Given the description of an element on the screen output the (x, y) to click on. 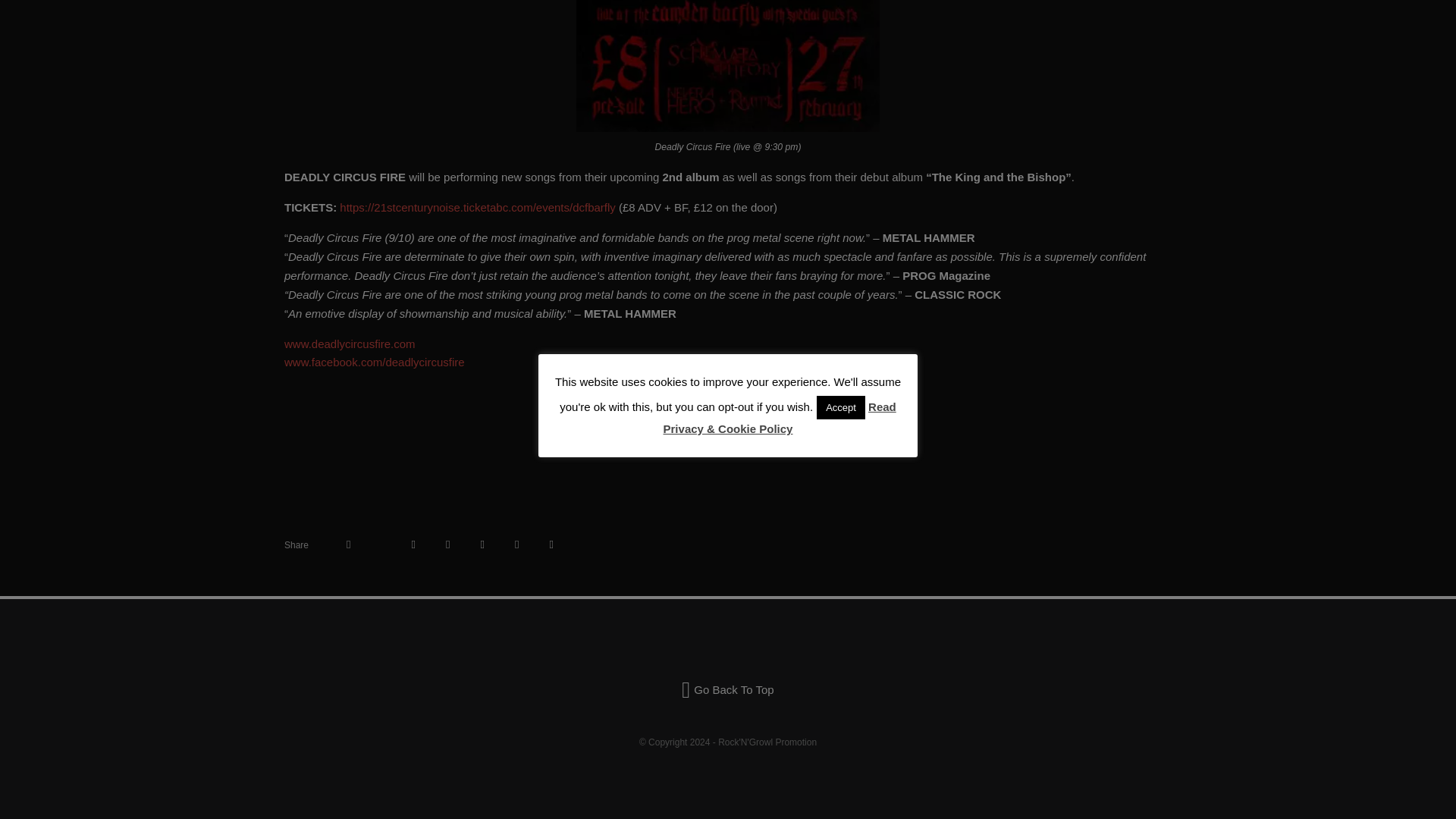
Deadly Circus Fire Barfly (727, 65)
